Given the description of an element on the screen output the (x, y) to click on. 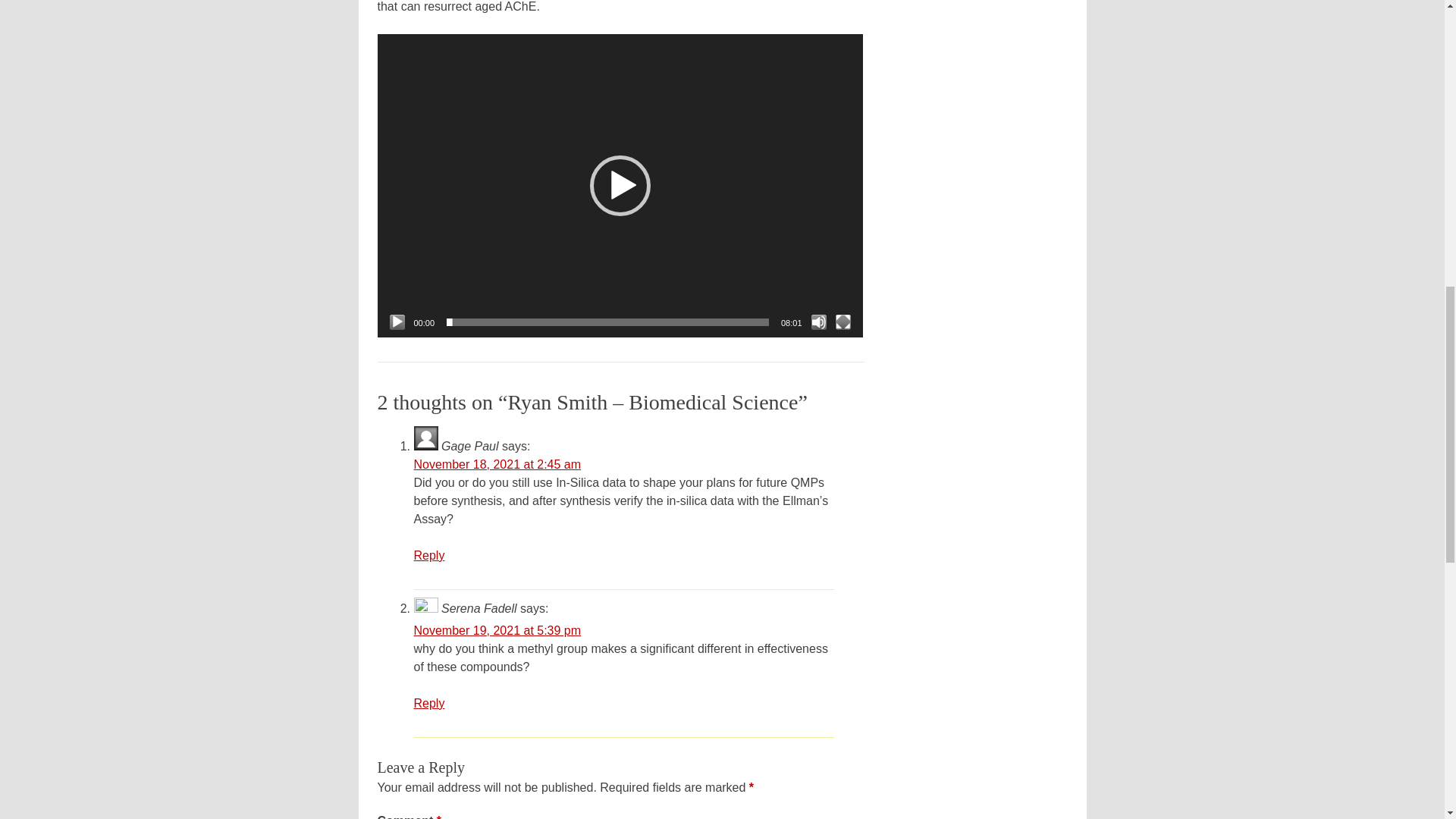
Fullscreen (842, 322)
Play (397, 322)
Mute (818, 322)
